Given the description of an element on the screen output the (x, y) to click on. 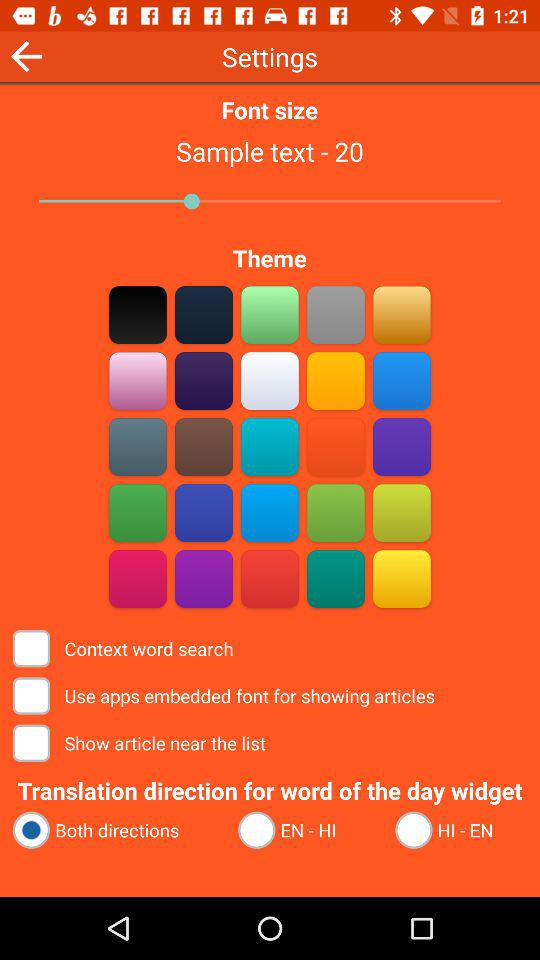
press the button (269, 314)
